Given the description of an element on the screen output the (x, y) to click on. 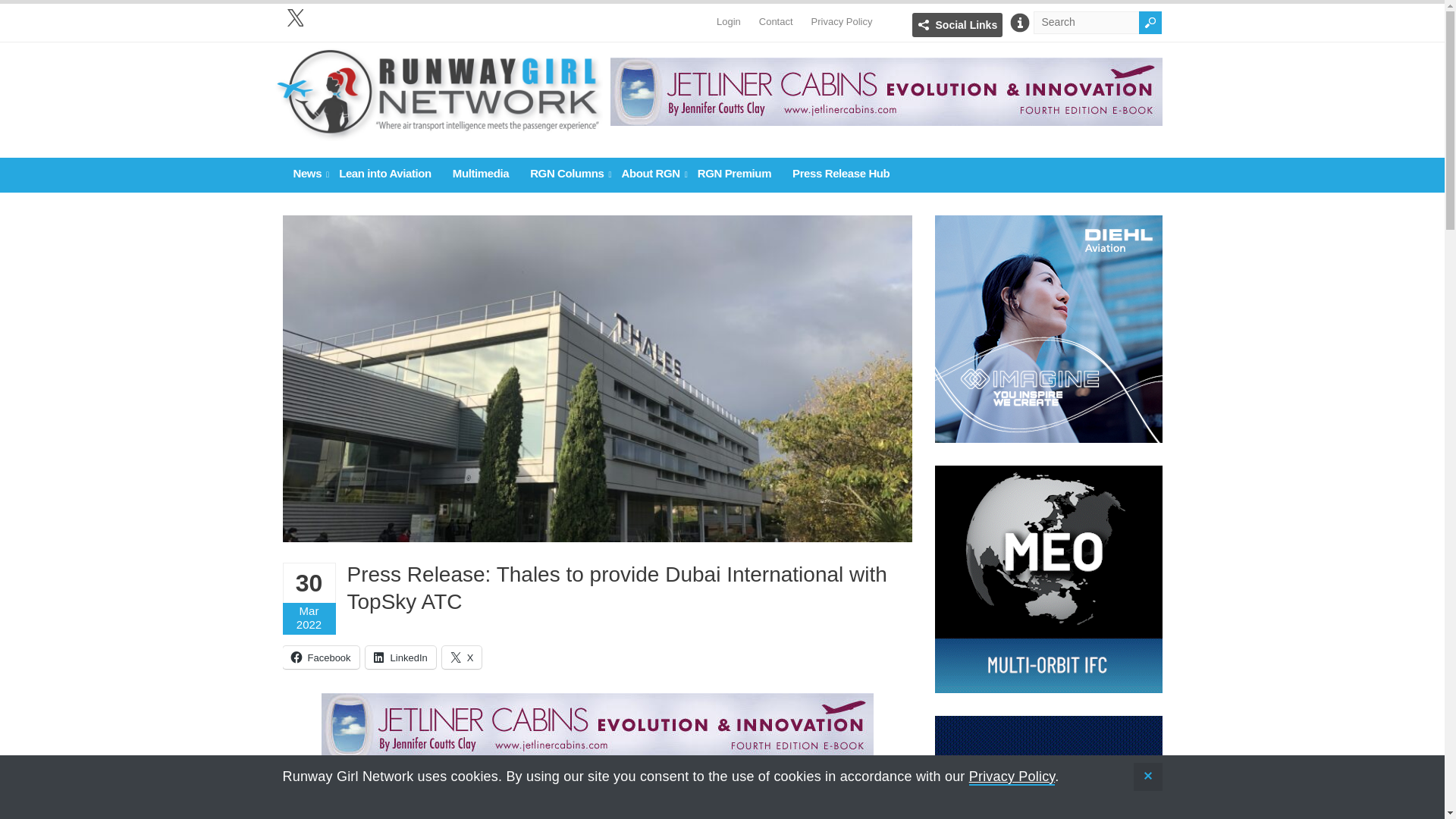
Search (1149, 22)
Click to share on X (461, 657)
Click to share on LinkedIn (400, 657)
Click to share on Facebook (320, 657)
Runway Girl (438, 133)
Login (728, 14)
